Given the description of an element on the screen output the (x, y) to click on. 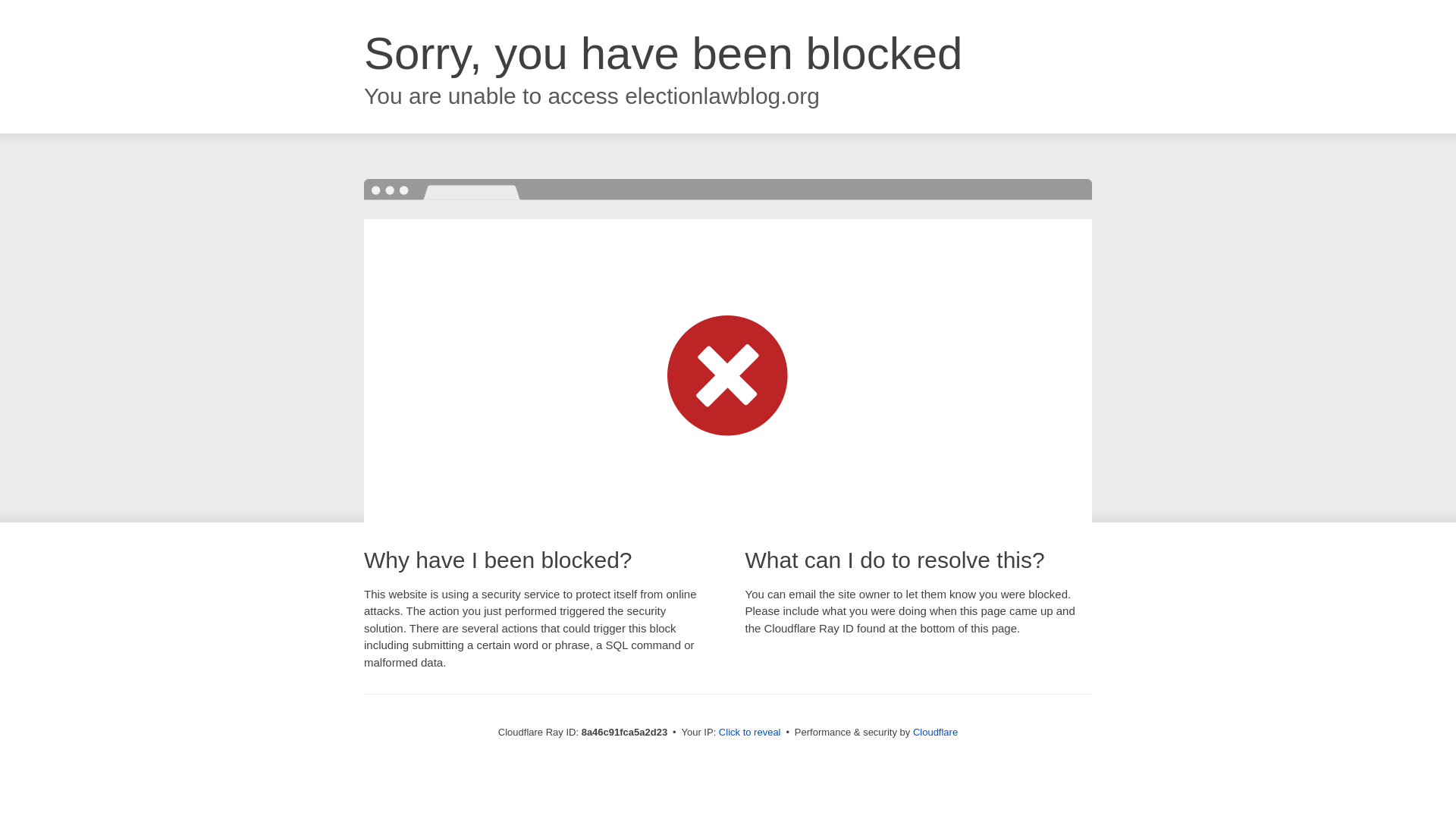
Cloudflare (935, 731)
Click to reveal (749, 732)
